Given the description of an element on the screen output the (x, y) to click on. 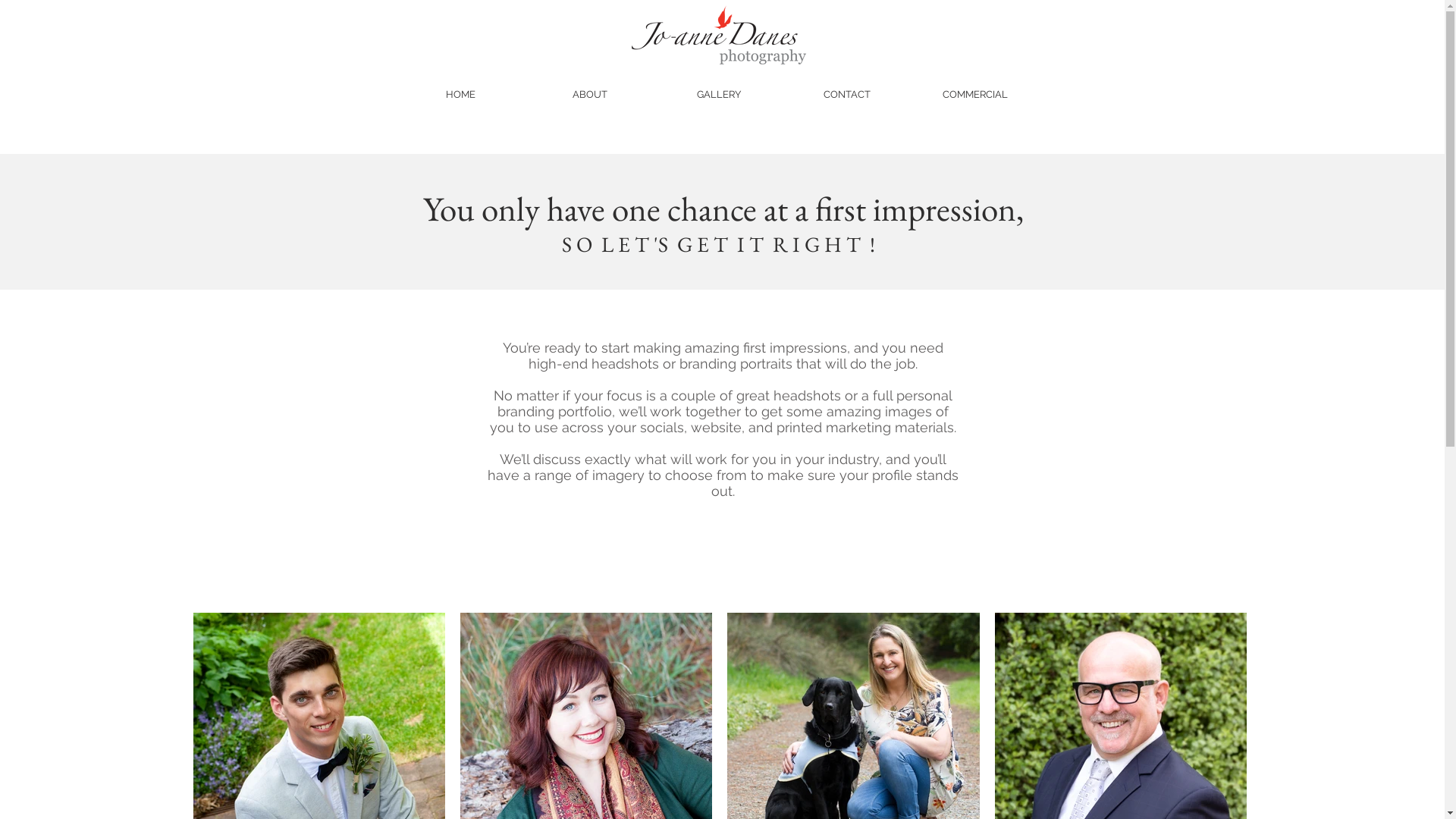
CONTACT Element type: text (847, 94)
GALLERY Element type: text (718, 94)
ABOUT Element type: text (589, 94)
HOME Element type: text (460, 94)
